Given the description of an element on the screen output the (x, y) to click on. 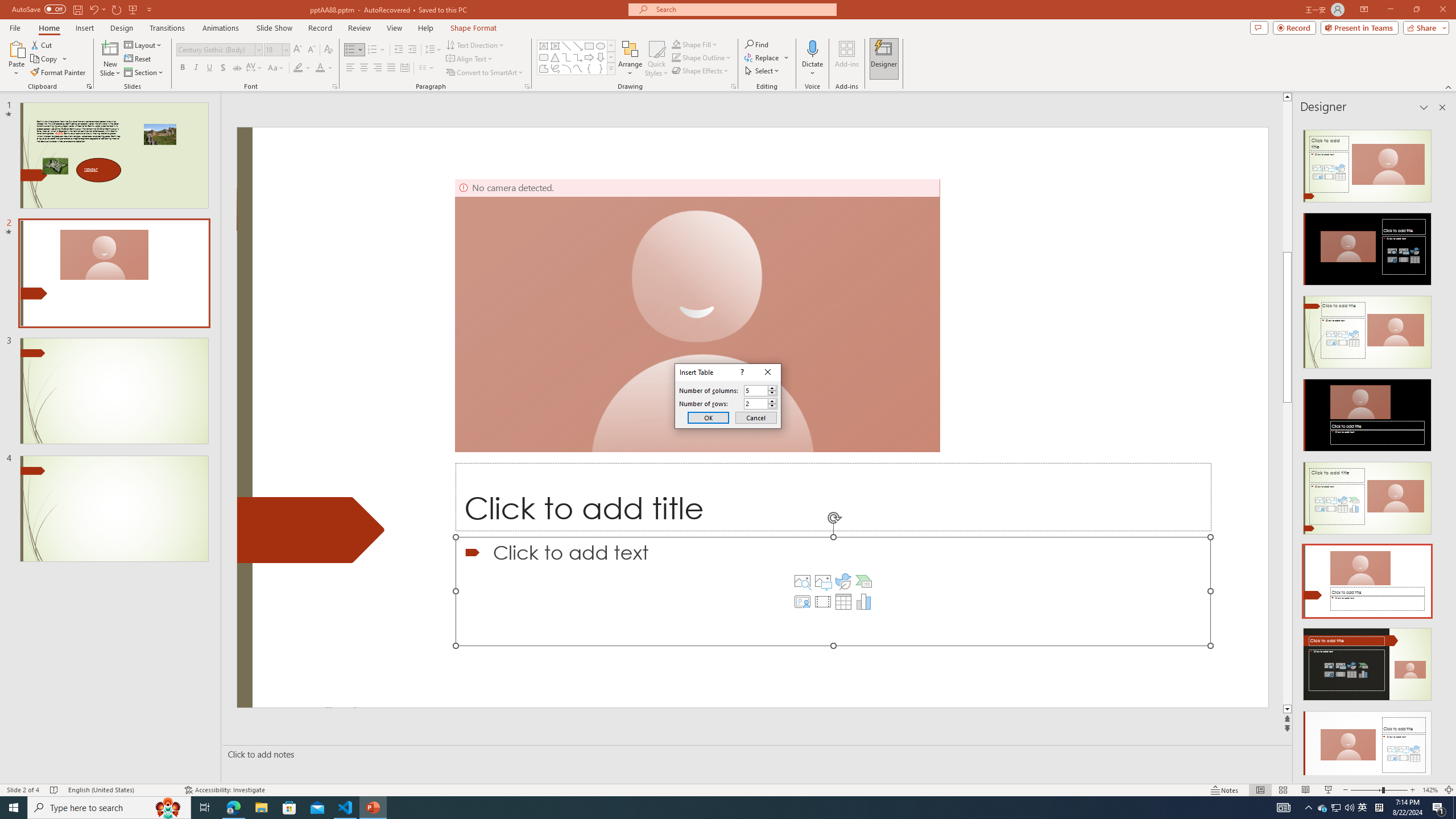
Number of columns (760, 390)
